Given the description of an element on the screen output the (x, y) to click on. 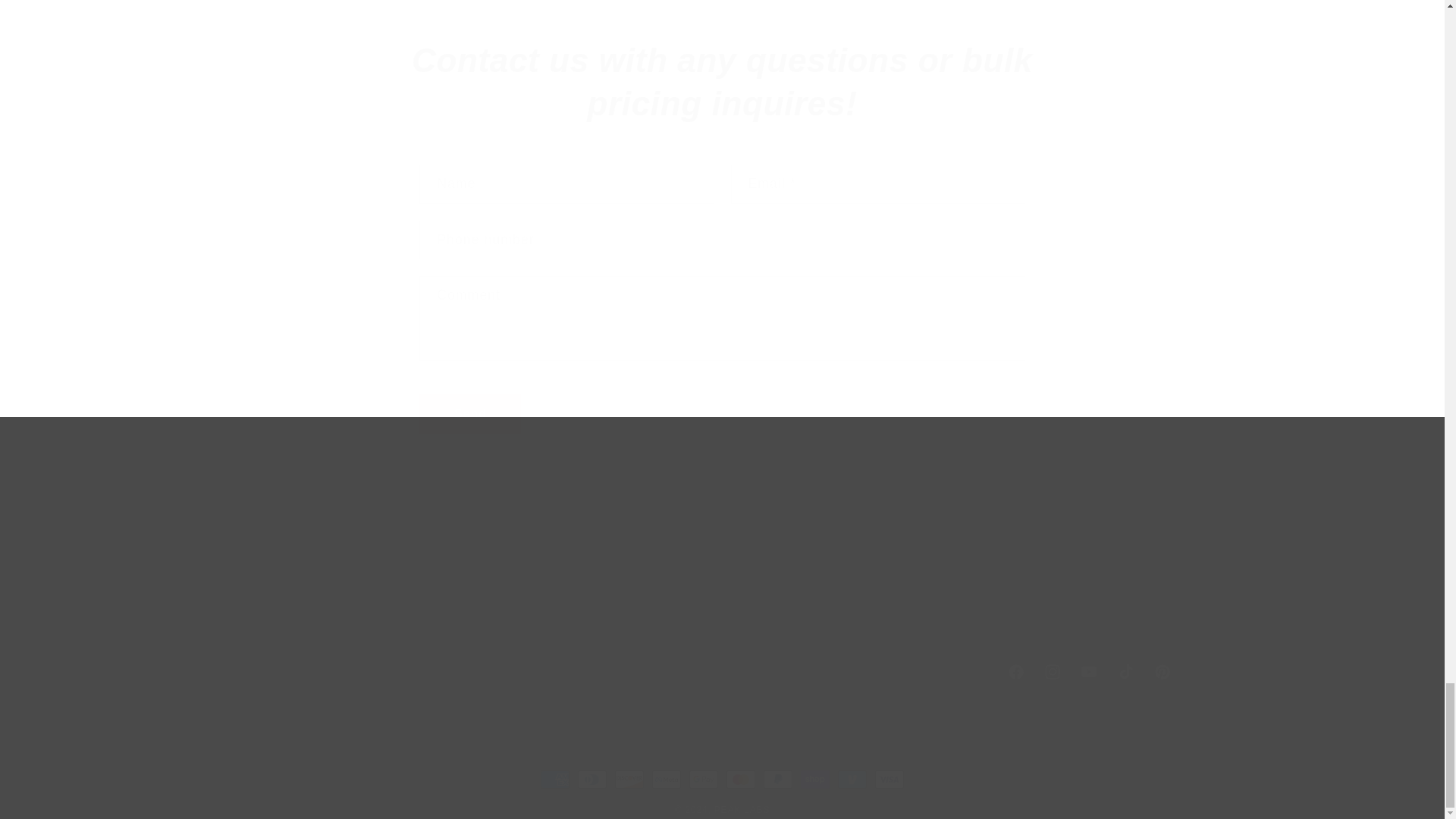
Affiliate Login (414, 556)
Send (610, 573)
Home (470, 413)
PAT.fit (280, 518)
Search (281, 573)
Contact us with any questions or bulk pricing inquires! (591, 518)
Education (722, 81)
Feel Tape (291, 631)
